Given the description of an element on the screen output the (x, y) to click on. 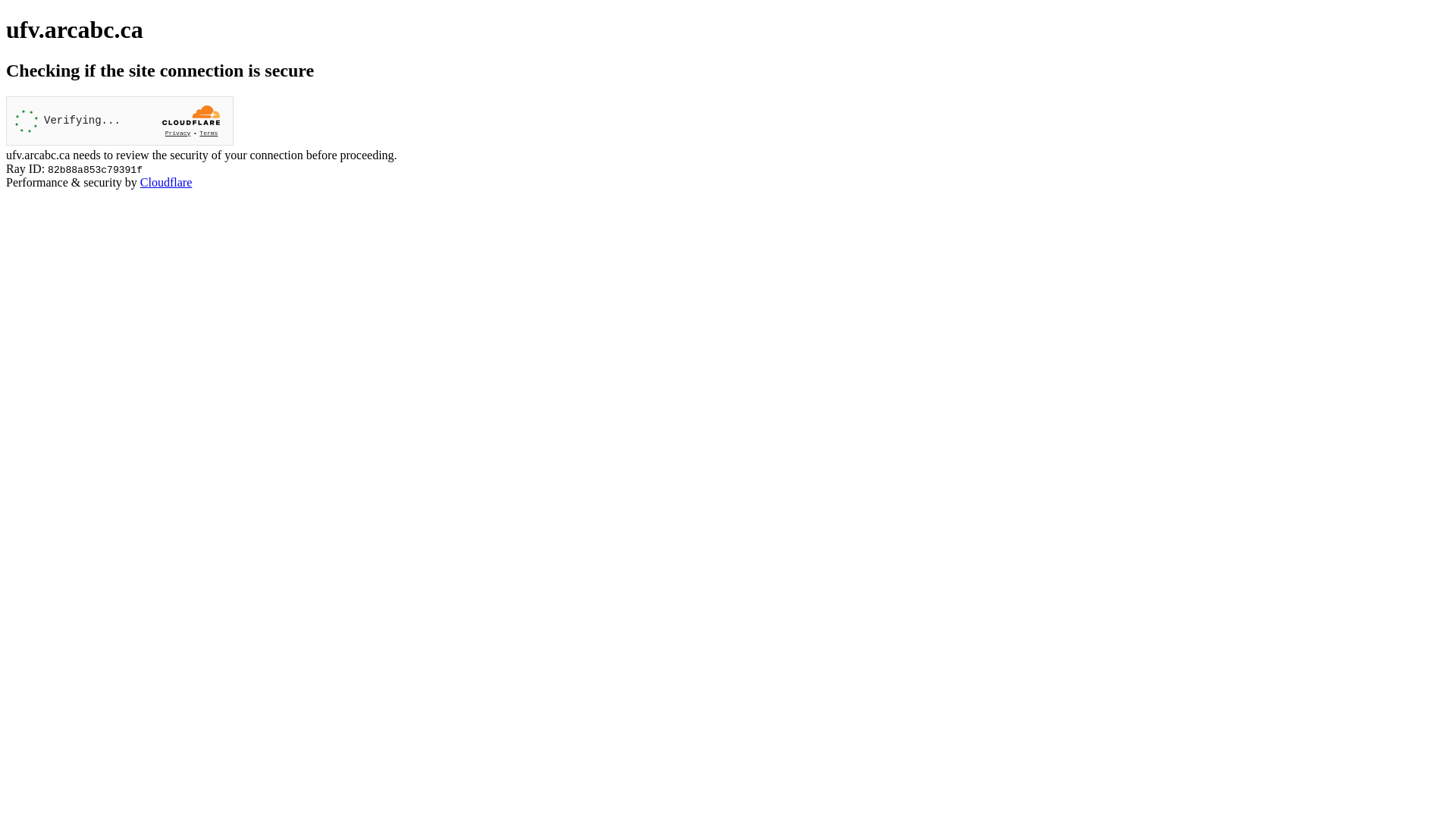
Cloudflare Element type: text (165, 181)
Widget containing a Cloudflare security challenge Element type: hover (119, 120)
